Given the description of an element on the screen output the (x, y) to click on. 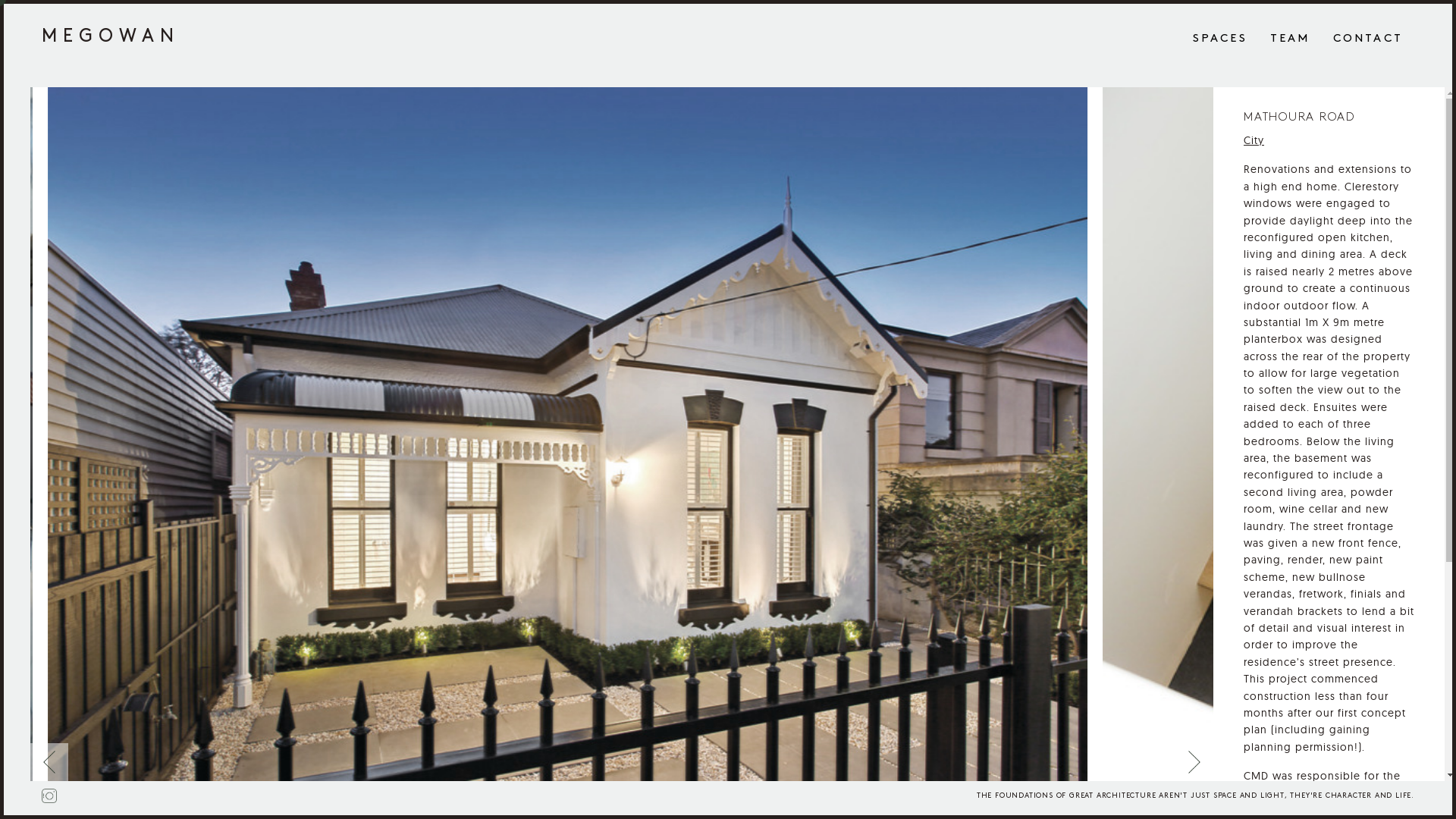
TEAM Element type: text (1289, 38)
SPACES Element type: text (1219, 38)
City Element type: text (1253, 140)
Previous Element type: text (49, 762)
CONTACT Element type: text (1367, 38)
Megowan Architectural on Instagram Element type: text (48, 796)
MEGOWAN Element type: text (110, 36)
Next Element type: text (1194, 762)
